Given the description of an element on the screen output the (x, y) to click on. 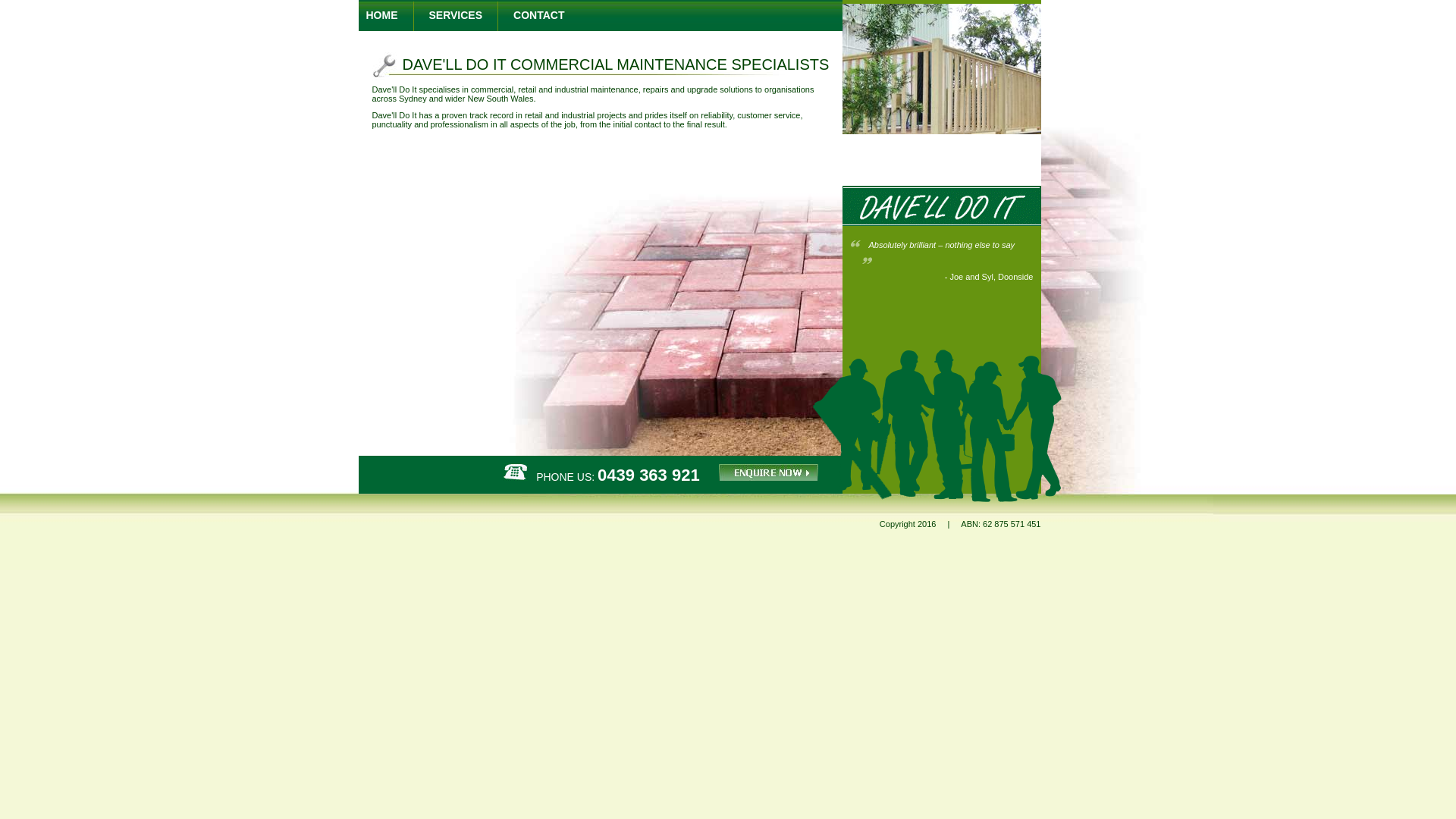
HOME Element type: text (381, 15)
CONTACT Element type: text (538, 15)
SERVICES Element type: text (456, 15)
